Given the description of an element on the screen output the (x, y) to click on. 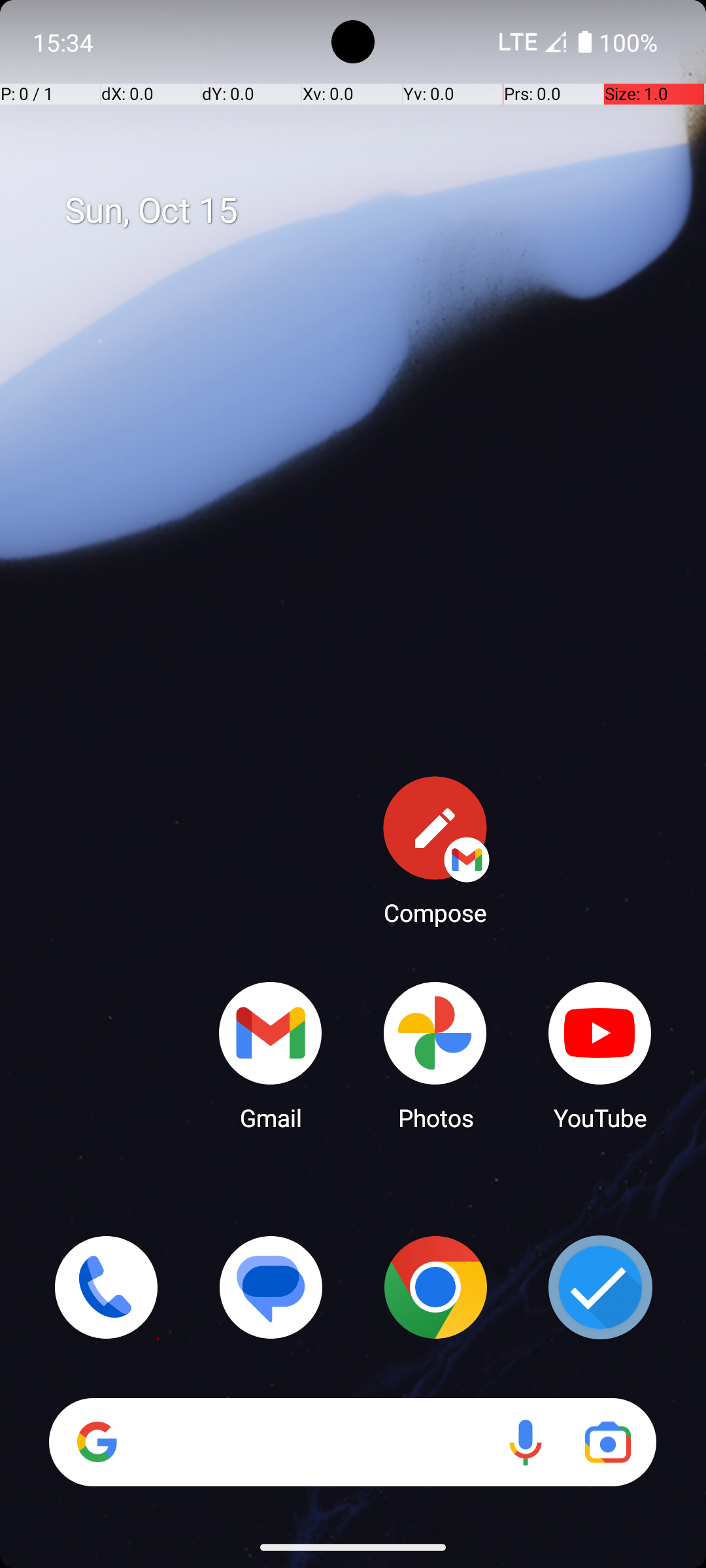
Search apps, web and more Element type: android.widget.EditText (403, 148)
